Given the description of an element on the screen output the (x, y) to click on. 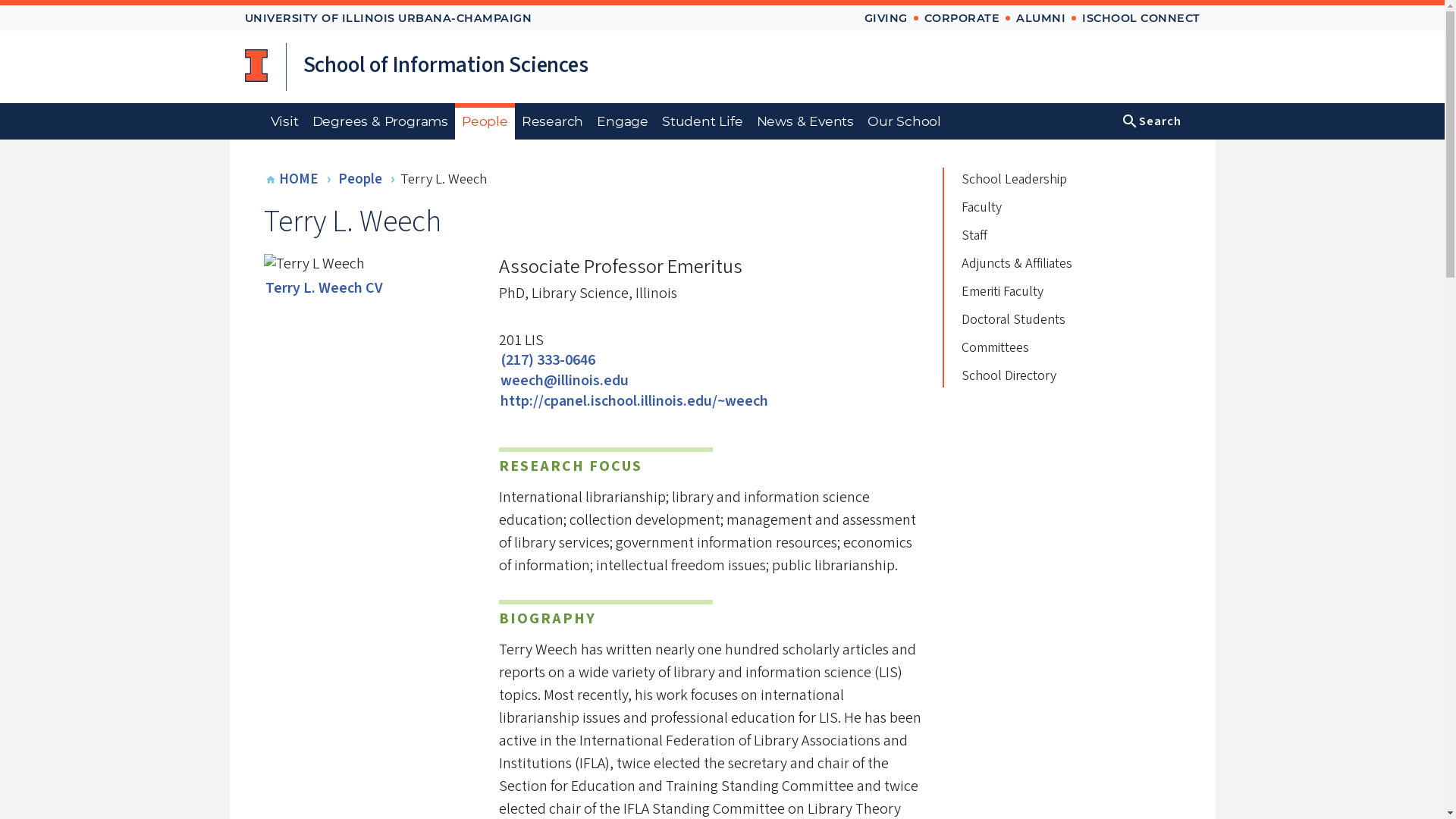
ISCHOOL CONNECT (1140, 18)
People (484, 121)
CORPORATE (960, 18)
ALUMNI (1040, 18)
SKIP TO MAIN NAVIGATION (938, 11)
SKIP TO MAIN CONTENT (928, 11)
School of Information Sciences (445, 66)
Research (552, 121)
Visit (284, 121)
GIVING (885, 18)
